Given the description of an element on the screen output the (x, y) to click on. 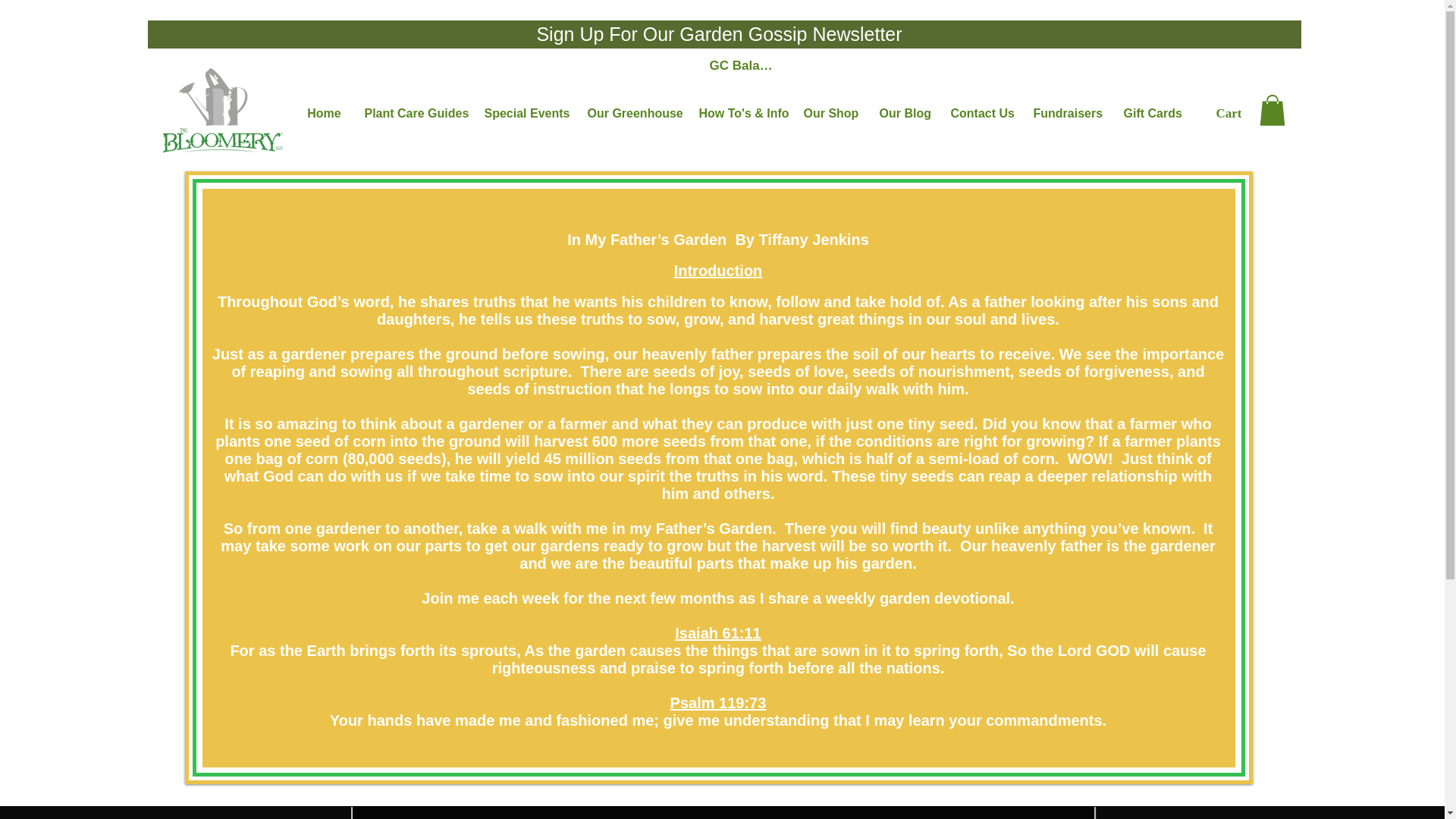
Special Events (524, 112)
Contact Us (980, 112)
Our Blog (903, 112)
Fundraisers (1067, 112)
GC Balance (743, 65)
Home (324, 112)
Our Greenhouse (631, 112)
Our Shop (829, 112)
Sign Up For Our Garden Gossip Newsletter (718, 34)
Plant Care Guides (413, 112)
